Given the description of an element on the screen output the (x, y) to click on. 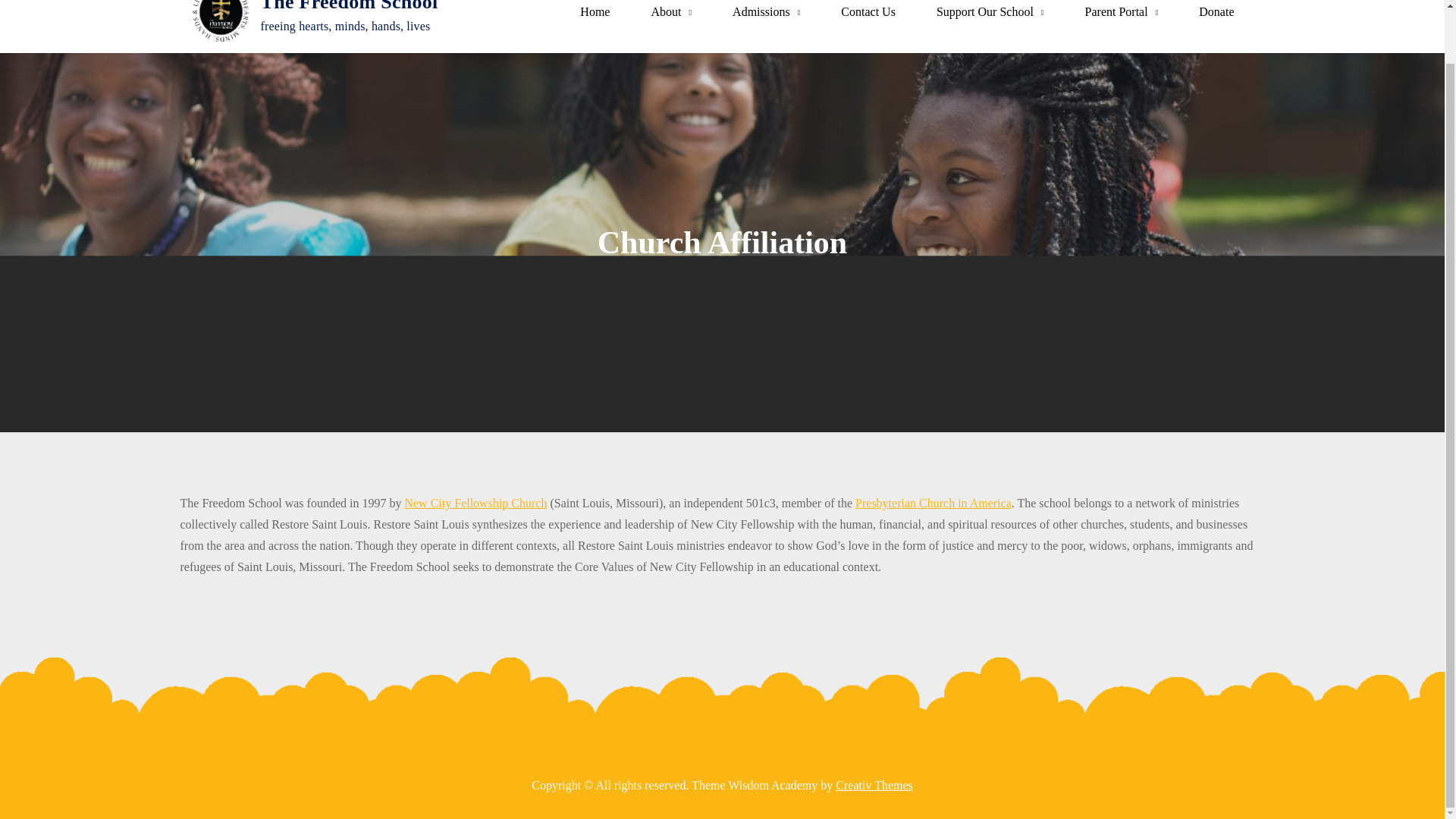
Presbyterian Church in America (933, 502)
Support Our School (989, 12)
Donate (1215, 12)
New City Fellowship Church (475, 502)
Admissions (765, 12)
Parent Portal (1121, 12)
Home (594, 12)
About (670, 12)
Creativ Themes (873, 784)
The Freedom School (349, 6)
Contact Us (868, 12)
